Given the description of an element on the screen output the (x, y) to click on. 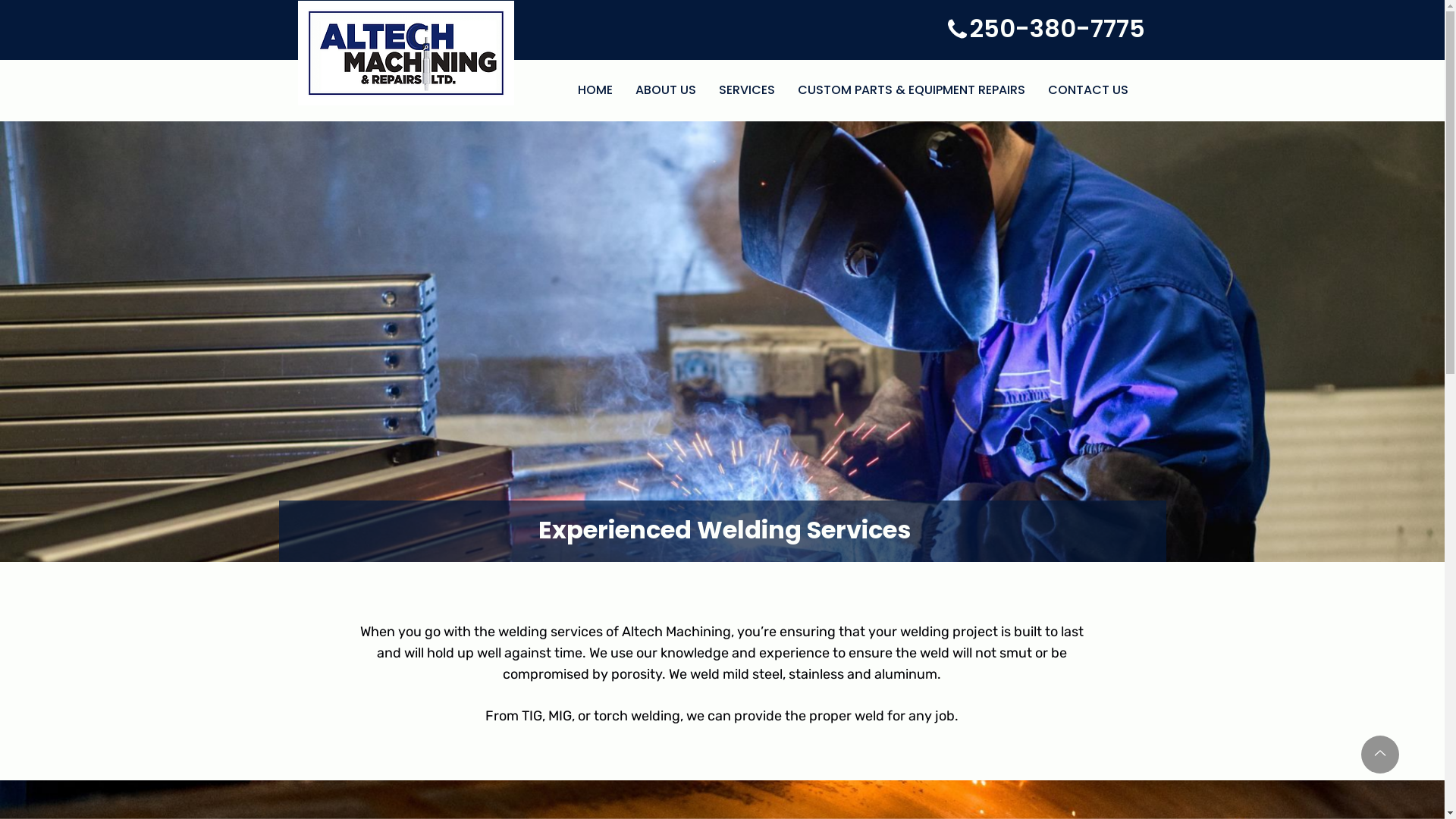
CONTACT US Element type: text (1088, 90)
ABOUT US Element type: text (665, 90)
CUSTOM PARTS & EQUIPMENT REPAIRS Element type: text (911, 90)
SERVICES Element type: text (746, 90)
HOME Element type: text (594, 90)
250-380-7775 Element type: text (1057, 28)
